Given the description of an element on the screen output the (x, y) to click on. 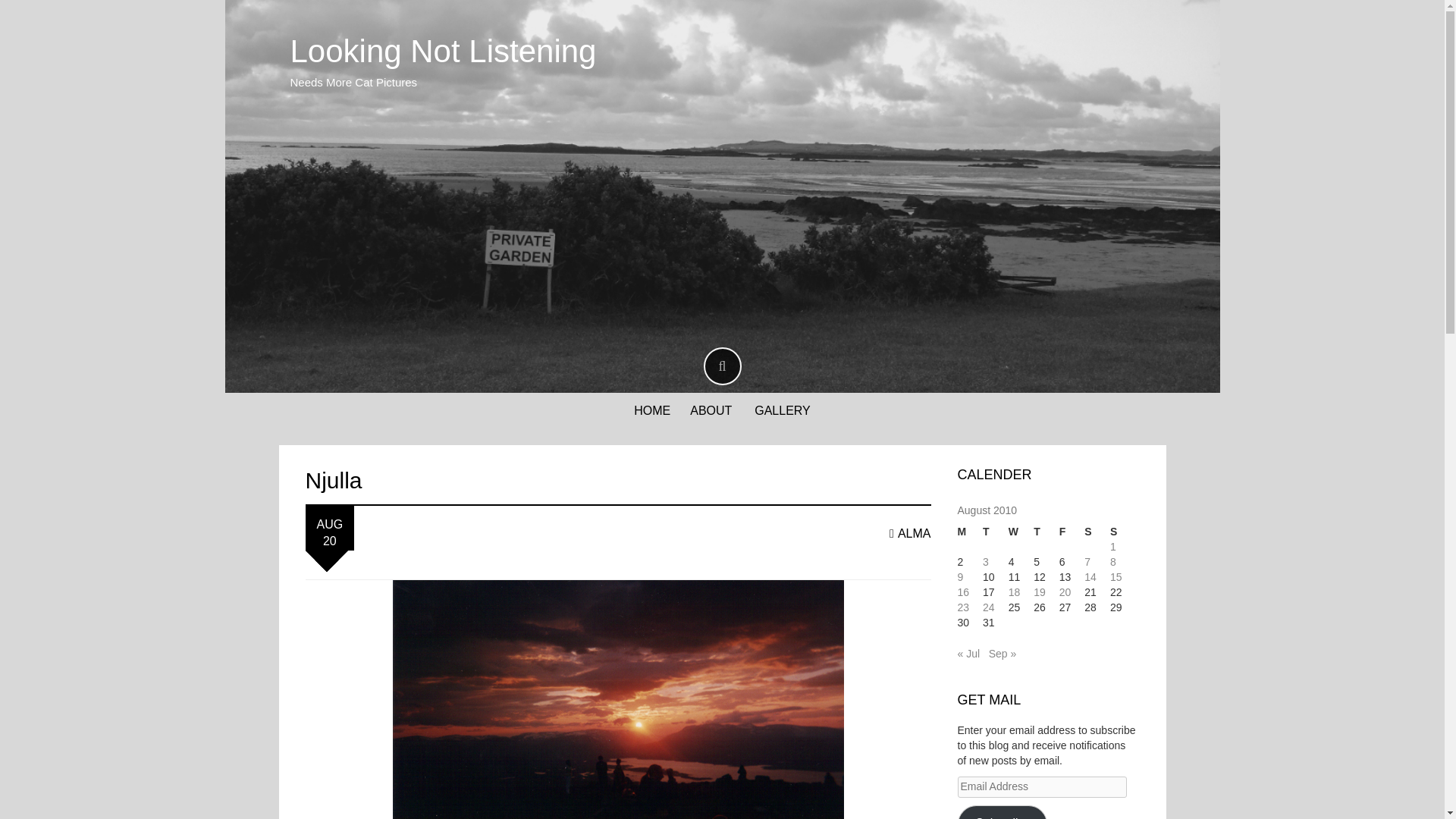
16 (962, 592)
18 (1014, 592)
23 (962, 607)
15 (1115, 576)
3 (985, 562)
Looking Not Listening (442, 50)
ABOUT (711, 411)
8 (1112, 562)
HOME (651, 411)
Subscribe (1001, 812)
19 (1039, 592)
9 (959, 576)
Monday (969, 531)
GALLERY (782, 411)
1 (1112, 546)
